Given the description of an element on the screen output the (x, y) to click on. 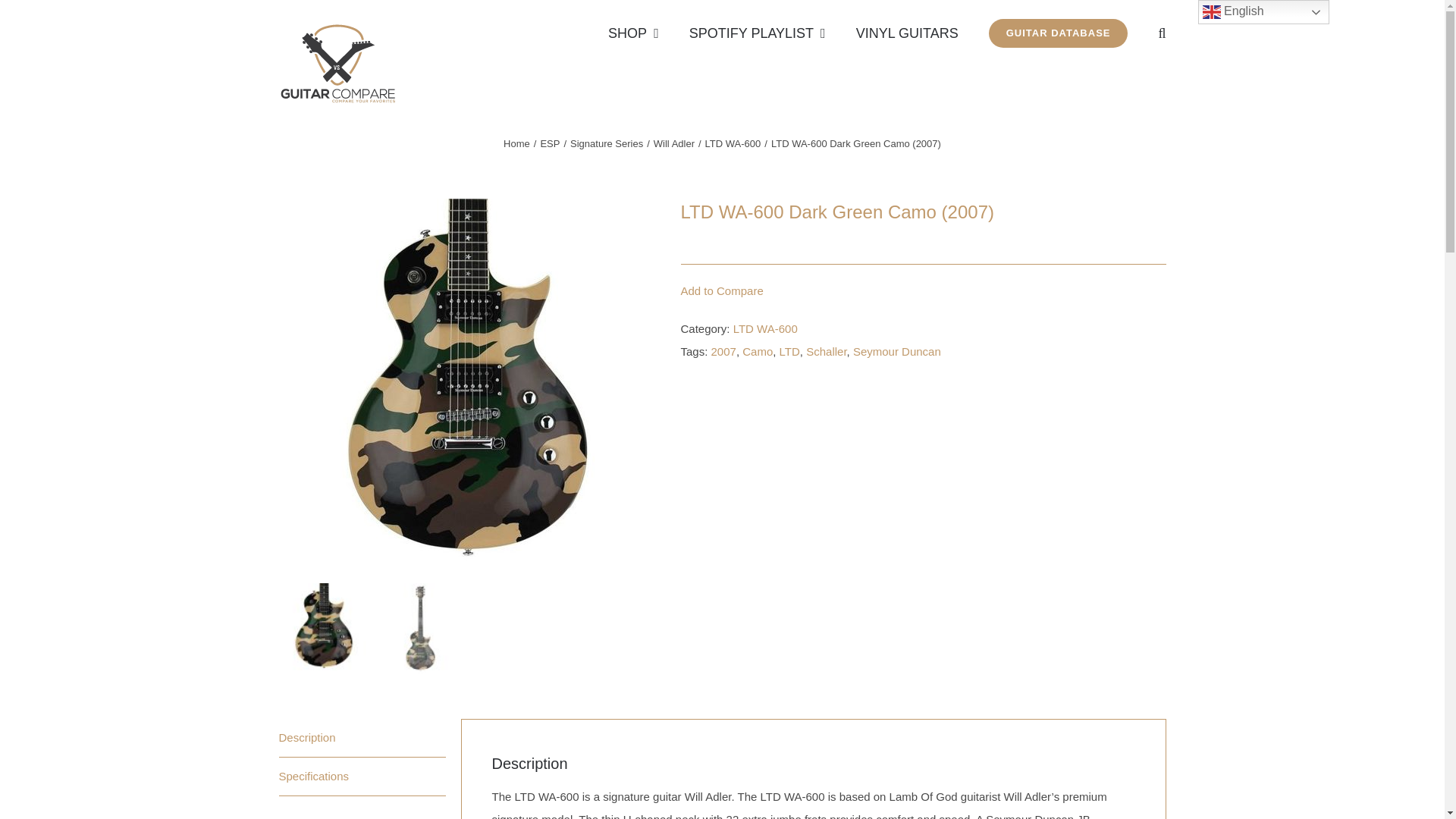
Will Adler (673, 143)
GUITAR DATABASE (1058, 31)
VINYL GUITARS (907, 31)
SPOTIFY PLAYLIST (756, 31)
LTD WA-600 (732, 143)
Signature Series (606, 143)
Home (516, 143)
ESP (549, 143)
